Given the description of an element on the screen output the (x, y) to click on. 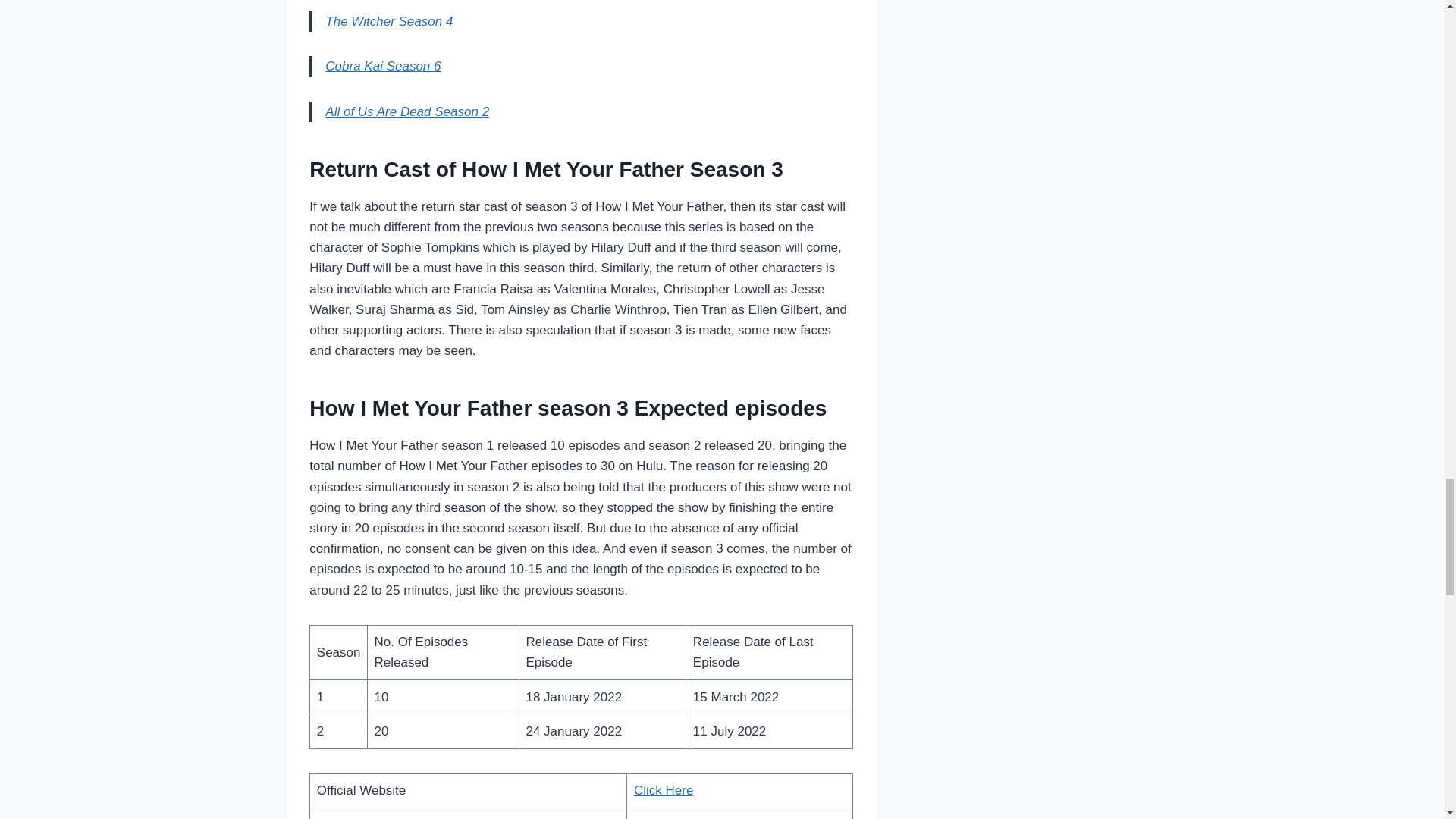
Cobra Kai Season 6 (382, 65)
Click Here (663, 789)
Click Here (663, 818)
The Witcher Season 4 (388, 21)
All of Us Are Dead Season 2 (406, 111)
